Given the description of an element on the screen output the (x, y) to click on. 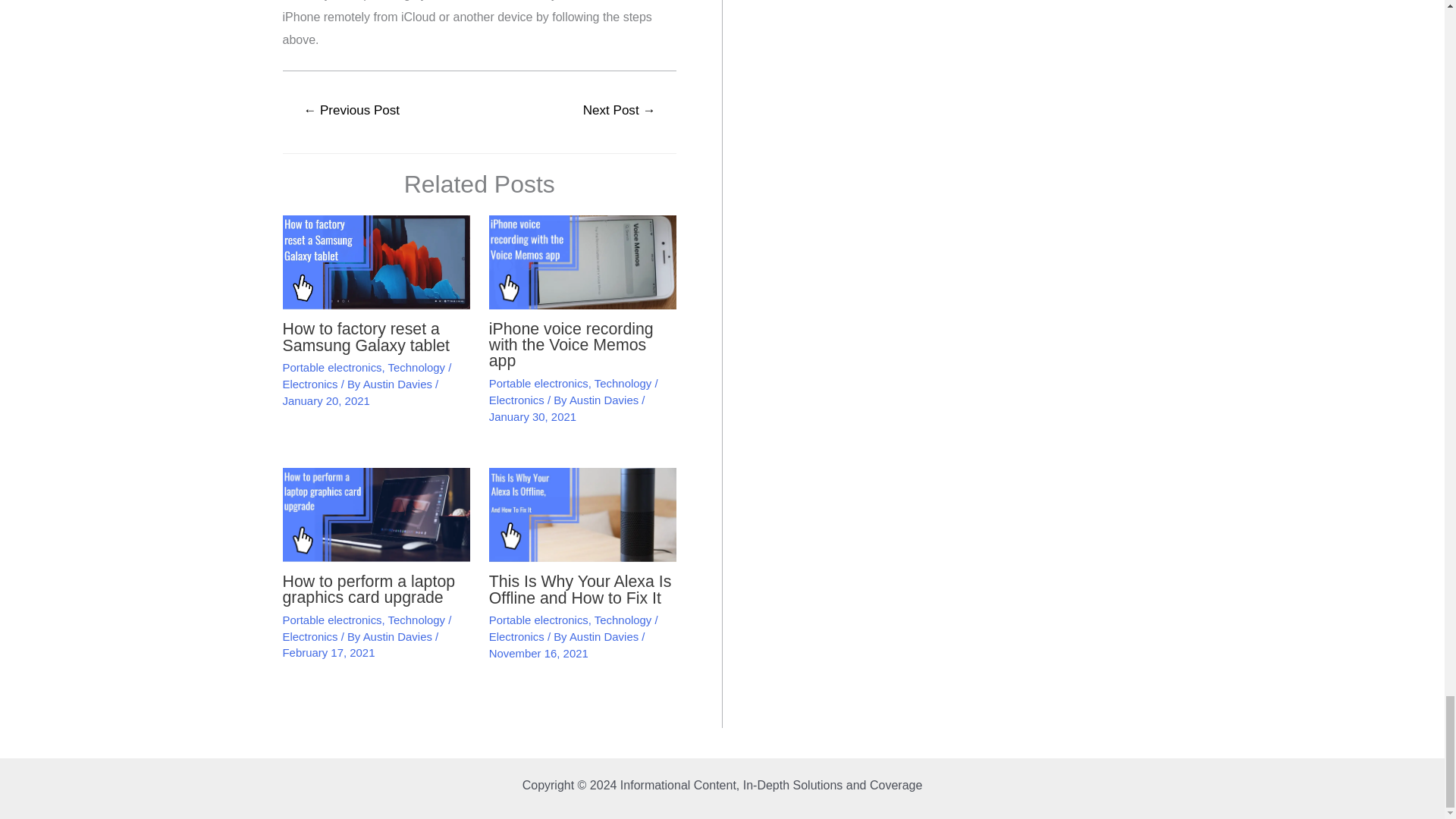
View all posts by Austin Davies (605, 635)
View all posts by Austin Davies (398, 635)
View all posts by Austin Davies (398, 383)
View all posts by Austin Davies (605, 399)
